Given the description of an element on the screen output the (x, y) to click on. 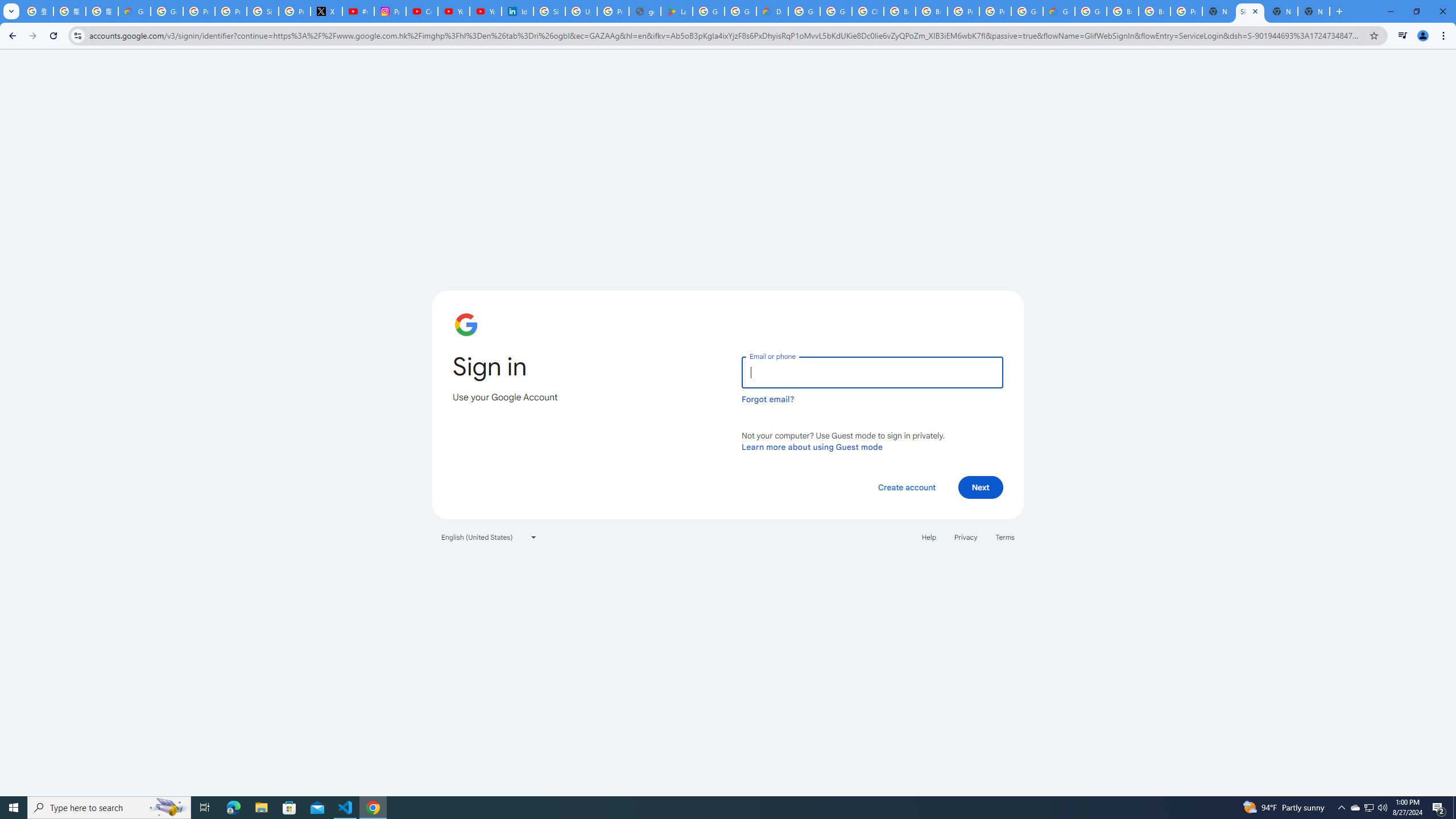
New Tab (1313, 11)
YouTube Culture & Trends - YouTube Top 10, 2021 (485, 11)
